Given the description of an element on the screen output the (x, y) to click on. 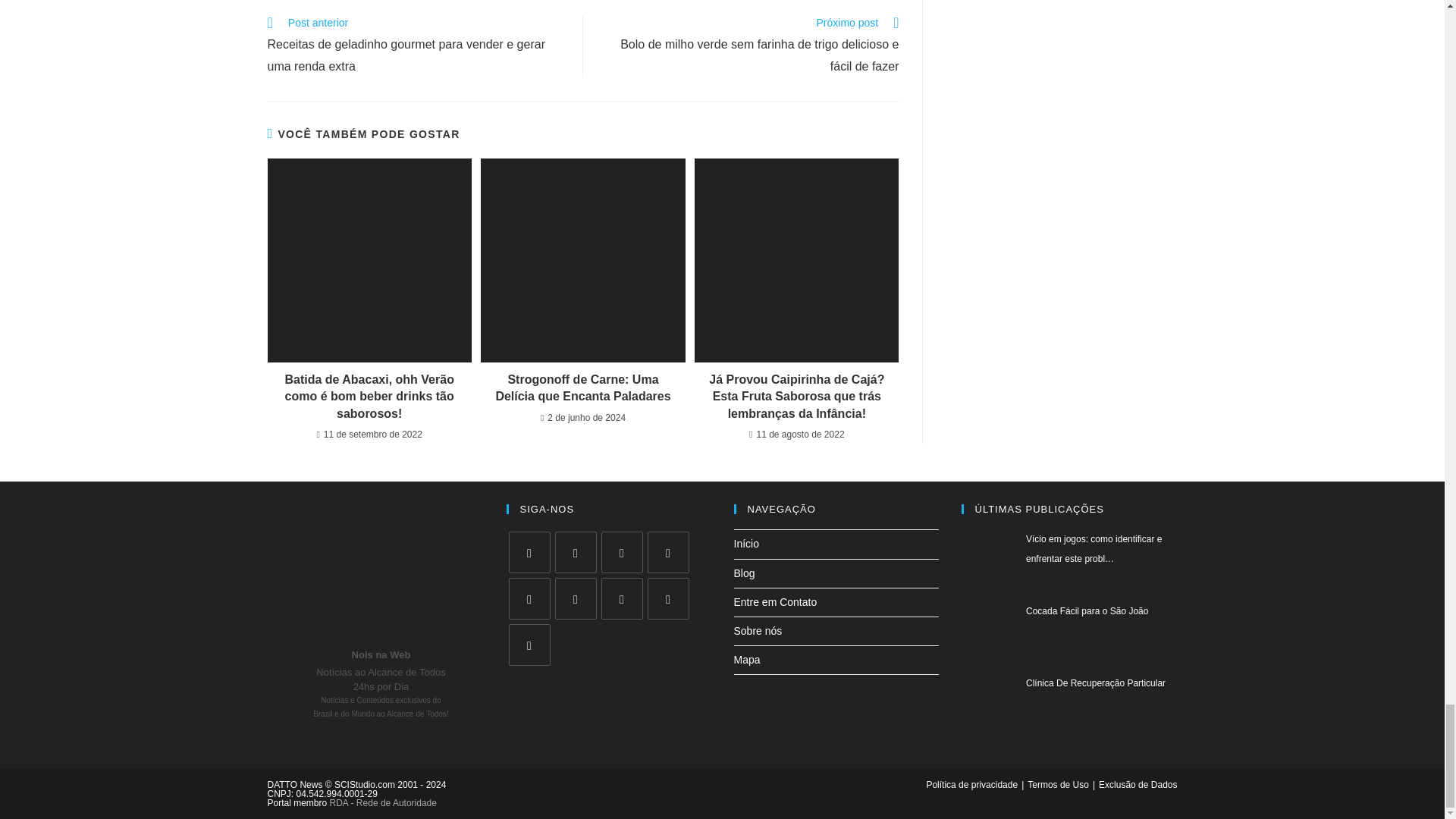
Carro parado esvazia o pneu? 4 (796, 260)
DATTO News (380, 572)
